Given the description of an element on the screen output the (x, y) to click on. 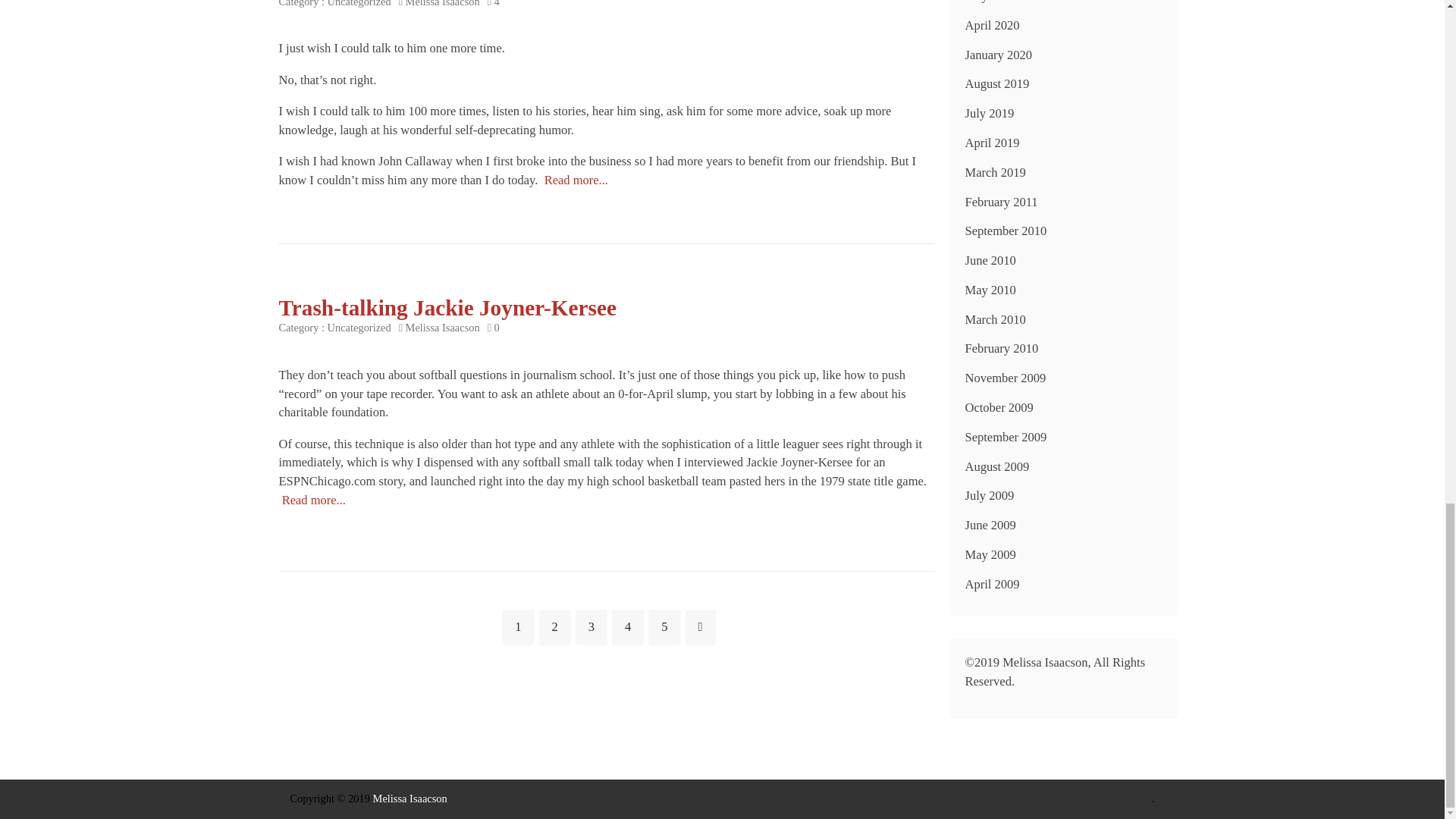
Permanent Link: John Callaway (576, 179)
Melissa Isaacson (443, 327)
Trash-talking Jackie Joyner-Kersee (447, 307)
Melissa Isaacson (443, 3)
Permanent Link: Trash-talking Jackie Joyner-Kersee (314, 499)
Trash-talking Jackie Joyner-Kersee (447, 307)
Read more... (576, 179)
Read more... (314, 499)
2 (554, 626)
Uncategorized (359, 327)
Uncategorized (359, 3)
Posts by Melissa Isaacson (443, 327)
Posts by Melissa Isaacson (443, 3)
1 (518, 626)
